Given the description of an element on the screen output the (x, y) to click on. 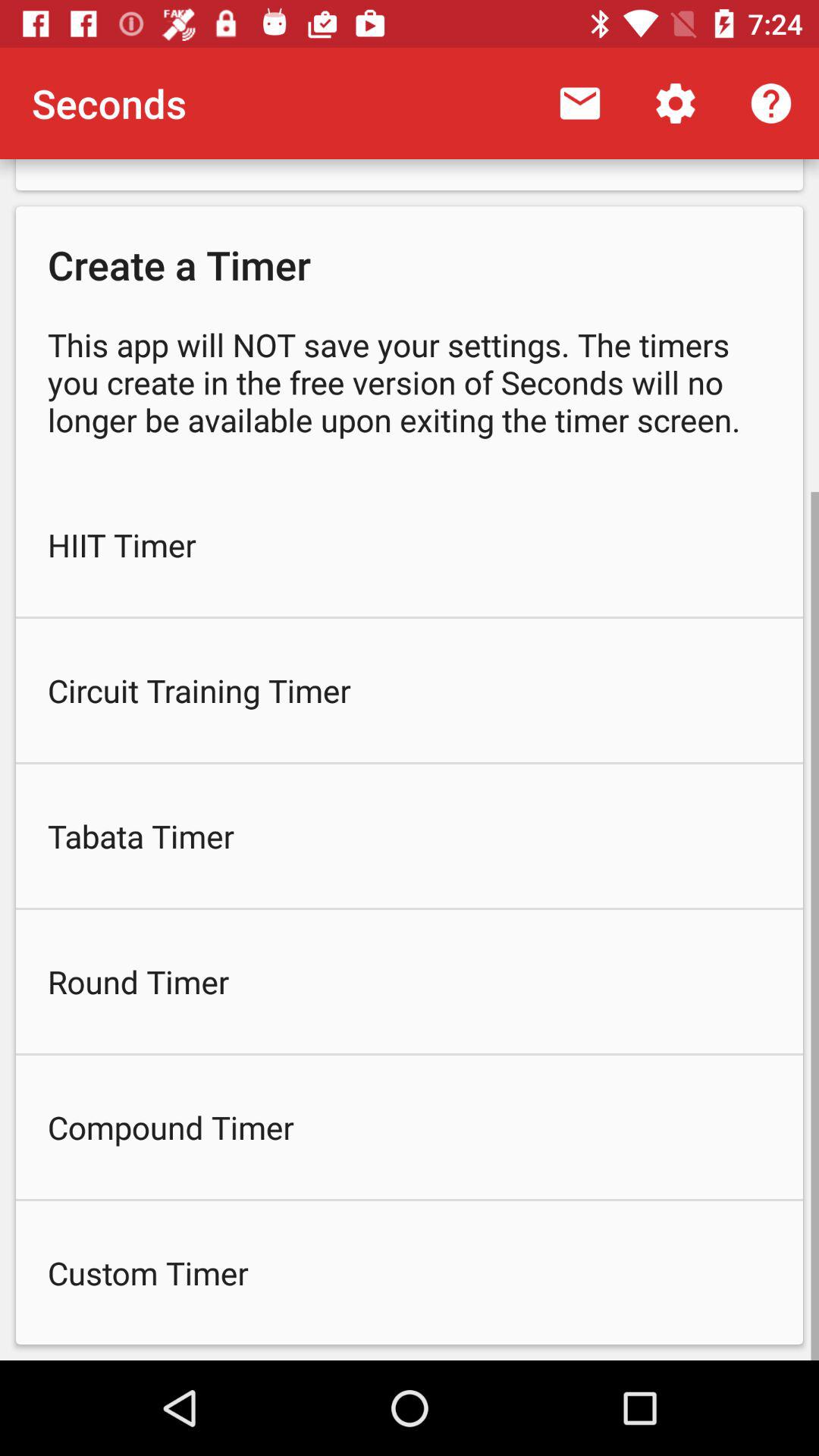
turn off the custom timer icon (409, 1272)
